Given the description of an element on the screen output the (x, y) to click on. 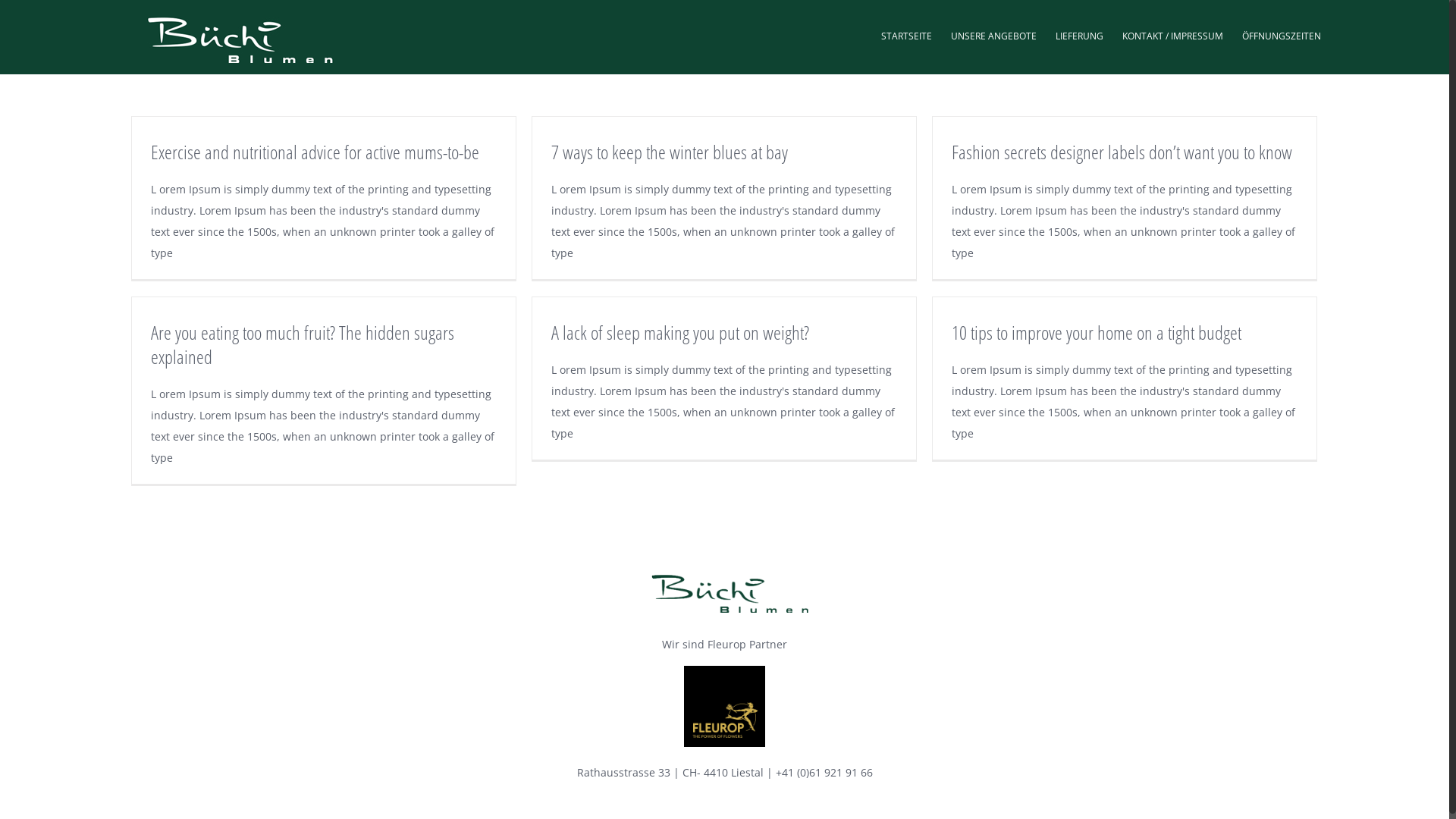
10 tips to improve your home on a tight budget Element type: text (1096, 332)
LIEFERUNG Element type: text (1079, 35)
Are you eating too much fruit? The hidden sugars explained Element type: text (302, 344)
7 ways to keep the winter blues at bay Element type: text (669, 151)
STARTSEITE Element type: text (906, 35)
A lack of sleep making you put on weight? Element type: text (680, 332)
UNSERE ANGEBOTE Element type: text (993, 35)
Exercise and nutritional advice for active mums-to-be Element type: text (314, 151)
KONTAKT / IMPRESSUM Element type: text (1172, 35)
